Given the description of an element on the screen output the (x, y) to click on. 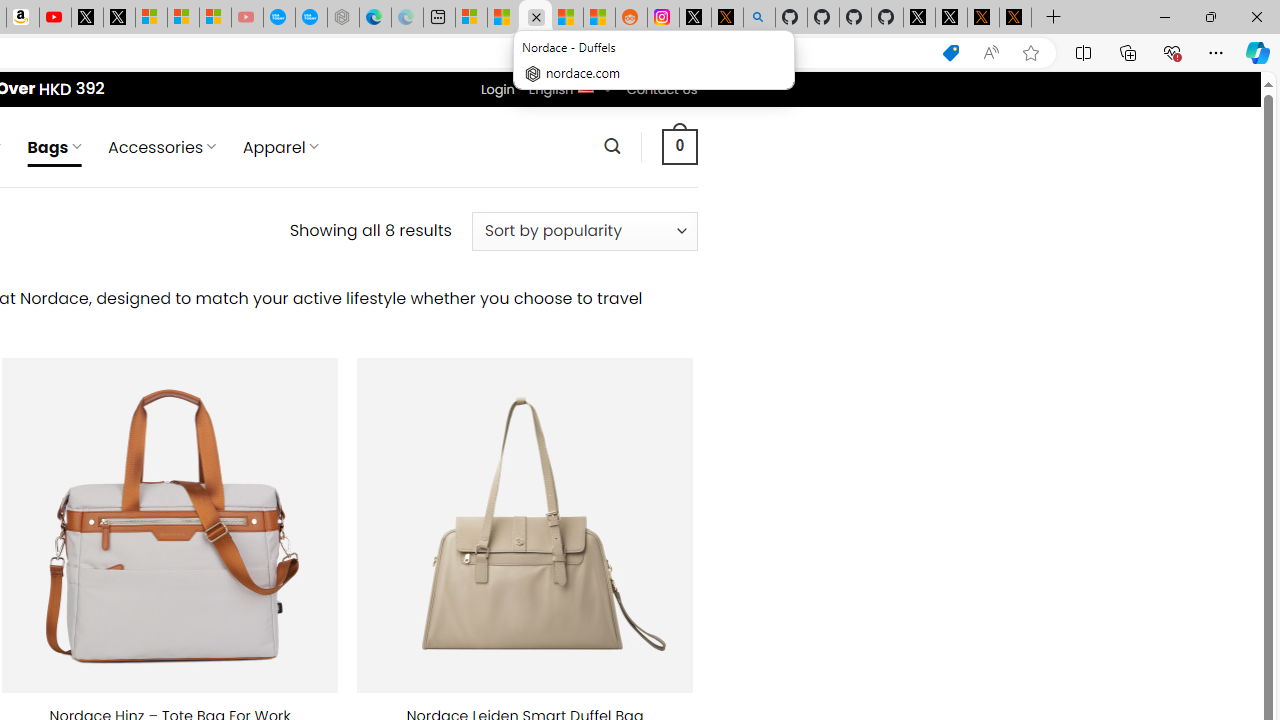
X Privacy Policy (1014, 17)
